Given the description of an element on the screen output the (x, y) to click on. 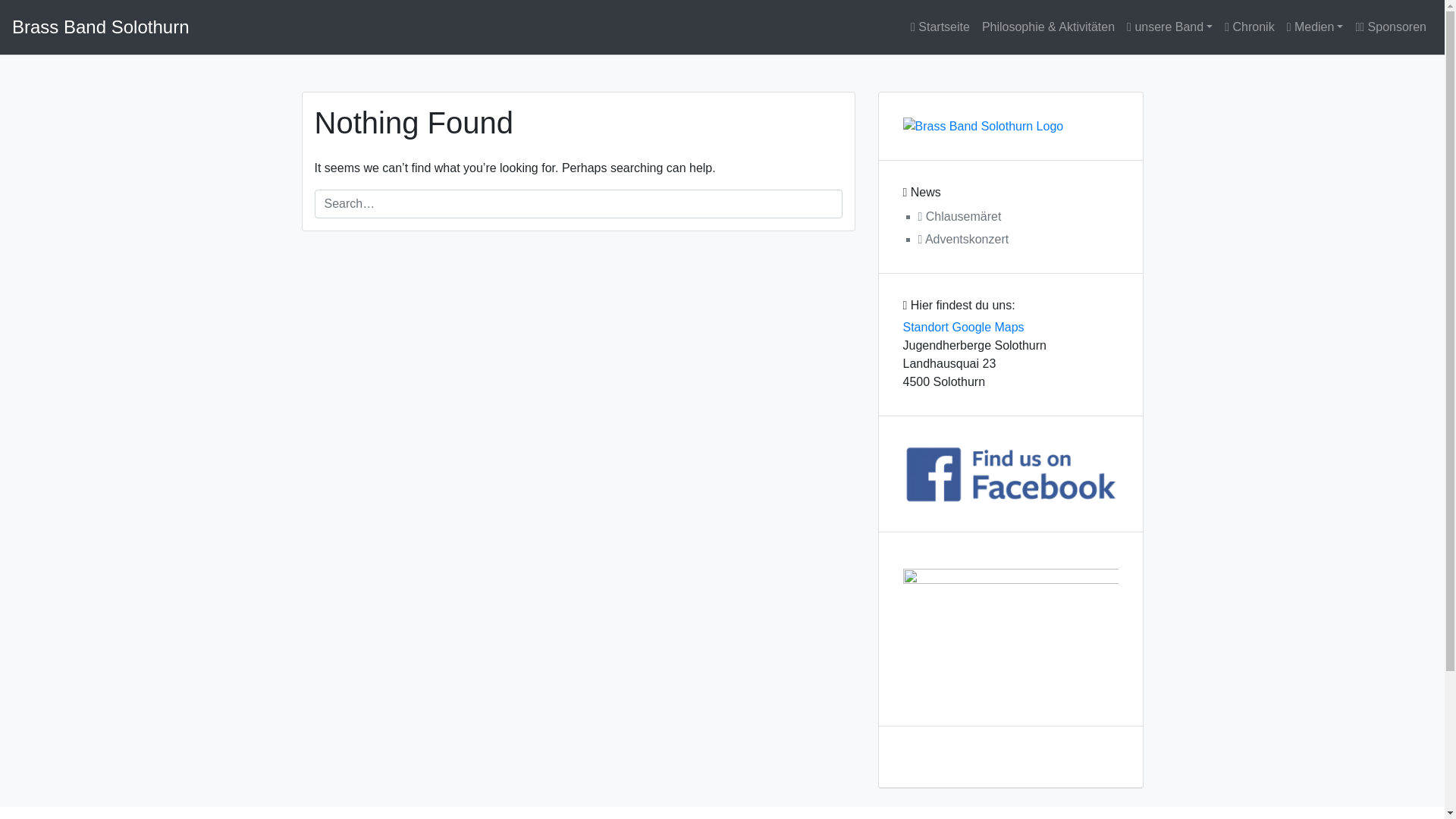
Brass Band Solothurn Element type: text (100, 27)
Standort Google Maps Element type: text (962, 326)
